Given the description of an element on the screen output the (x, y) to click on. 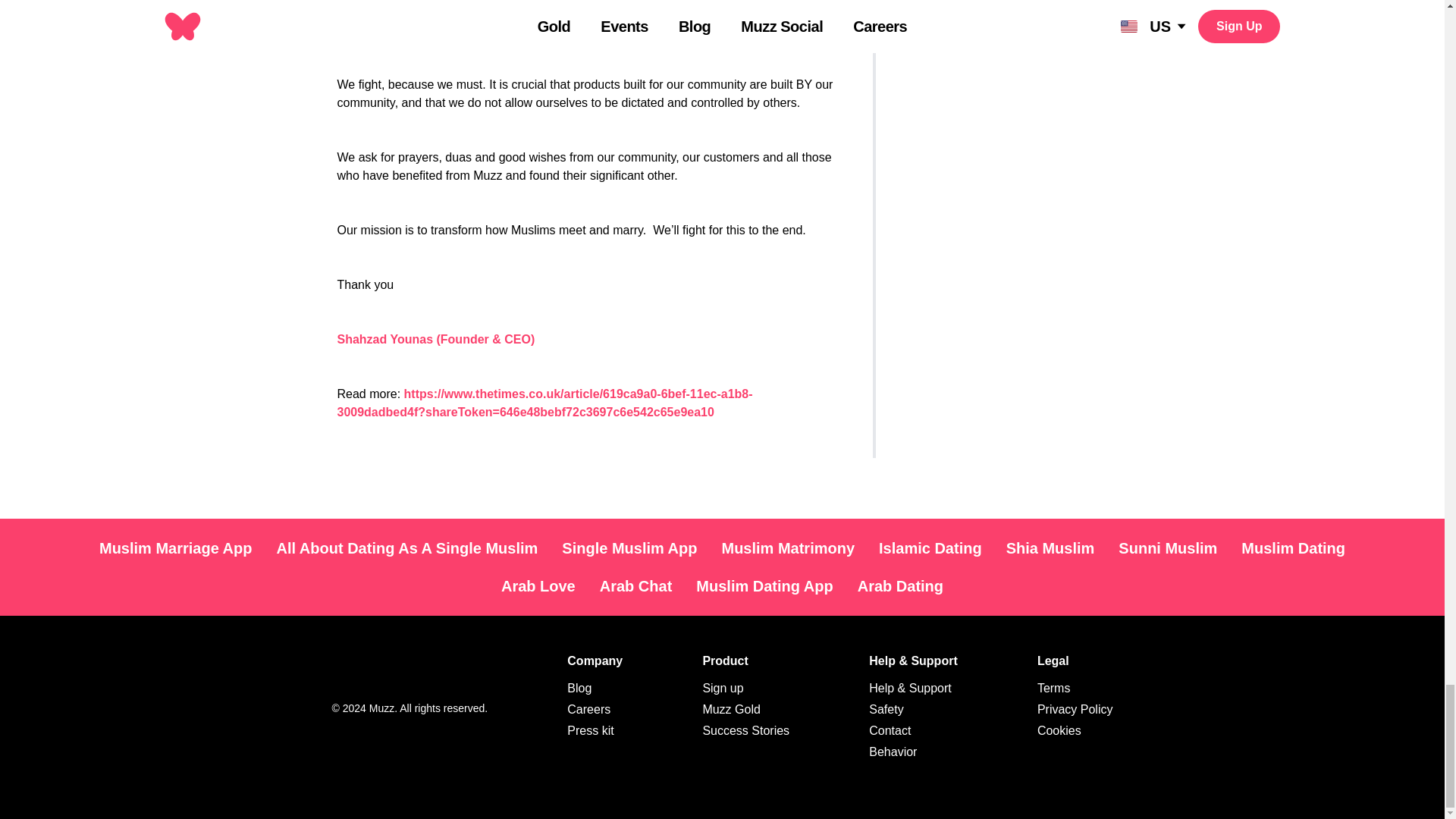
All About Dating As A Single Muslim (406, 547)
Muslim Dating (1292, 547)
Muslim Dating App (764, 585)
Blog (579, 687)
Careers (588, 708)
Shia Muslim (1050, 547)
Arab Chat (636, 585)
Muslim Marriage App (175, 547)
Arab Love (538, 585)
Single Muslim App (629, 547)
Muslim Matrimony (787, 547)
Islamic Dating (930, 547)
Sunni Muslim (1167, 547)
Arab Dating (900, 585)
